Given the description of an element on the screen output the (x, y) to click on. 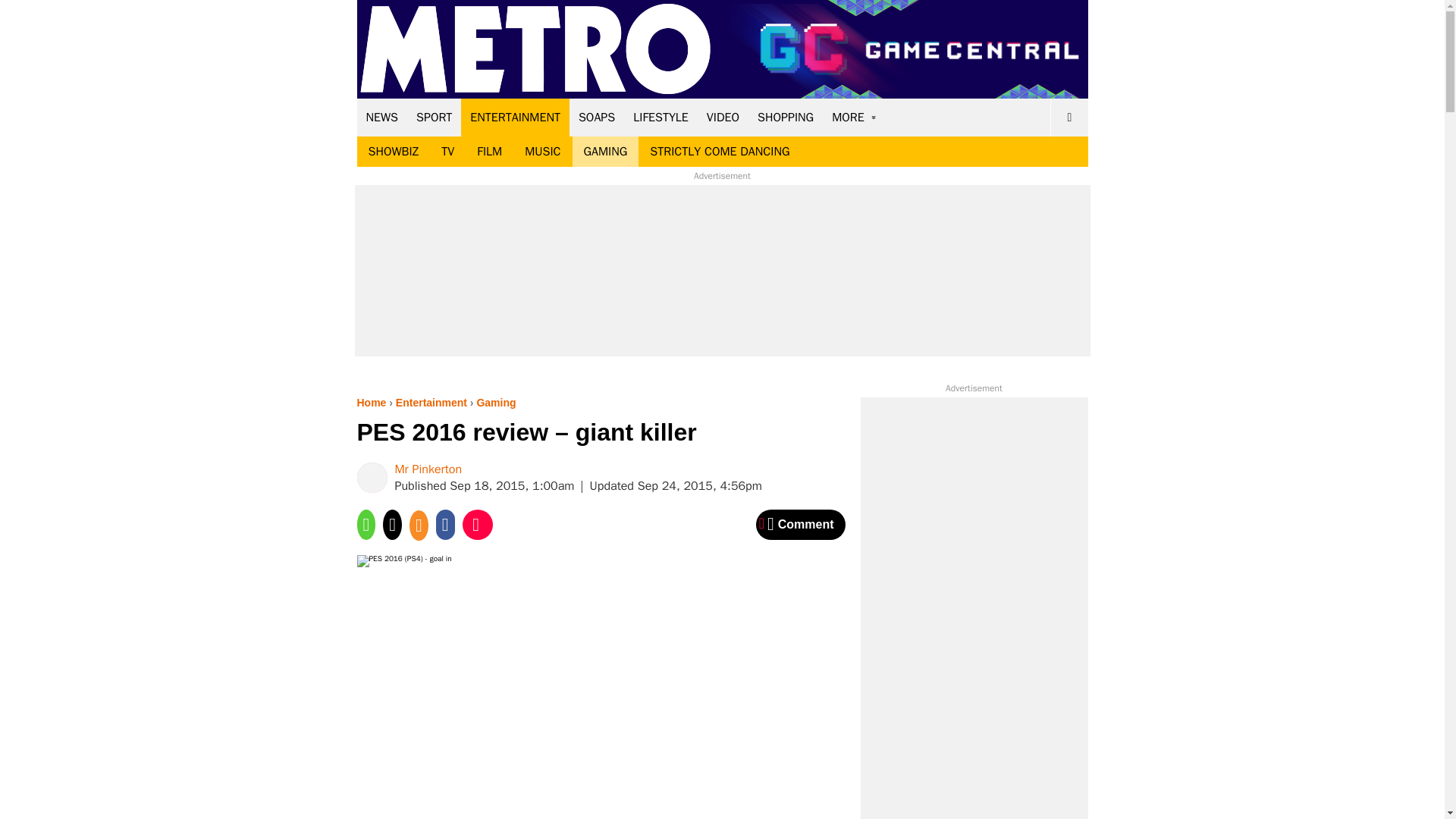
NEWS (381, 117)
GAMING (605, 151)
SHOWBIZ (392, 151)
FILM (489, 151)
LIFESTYLE (660, 117)
MUSIC (542, 151)
SOAPS (596, 117)
TV (447, 151)
SPORT (434, 117)
STRICTLY COME DANCING (719, 151)
